Given the description of an element on the screen output the (x, y) to click on. 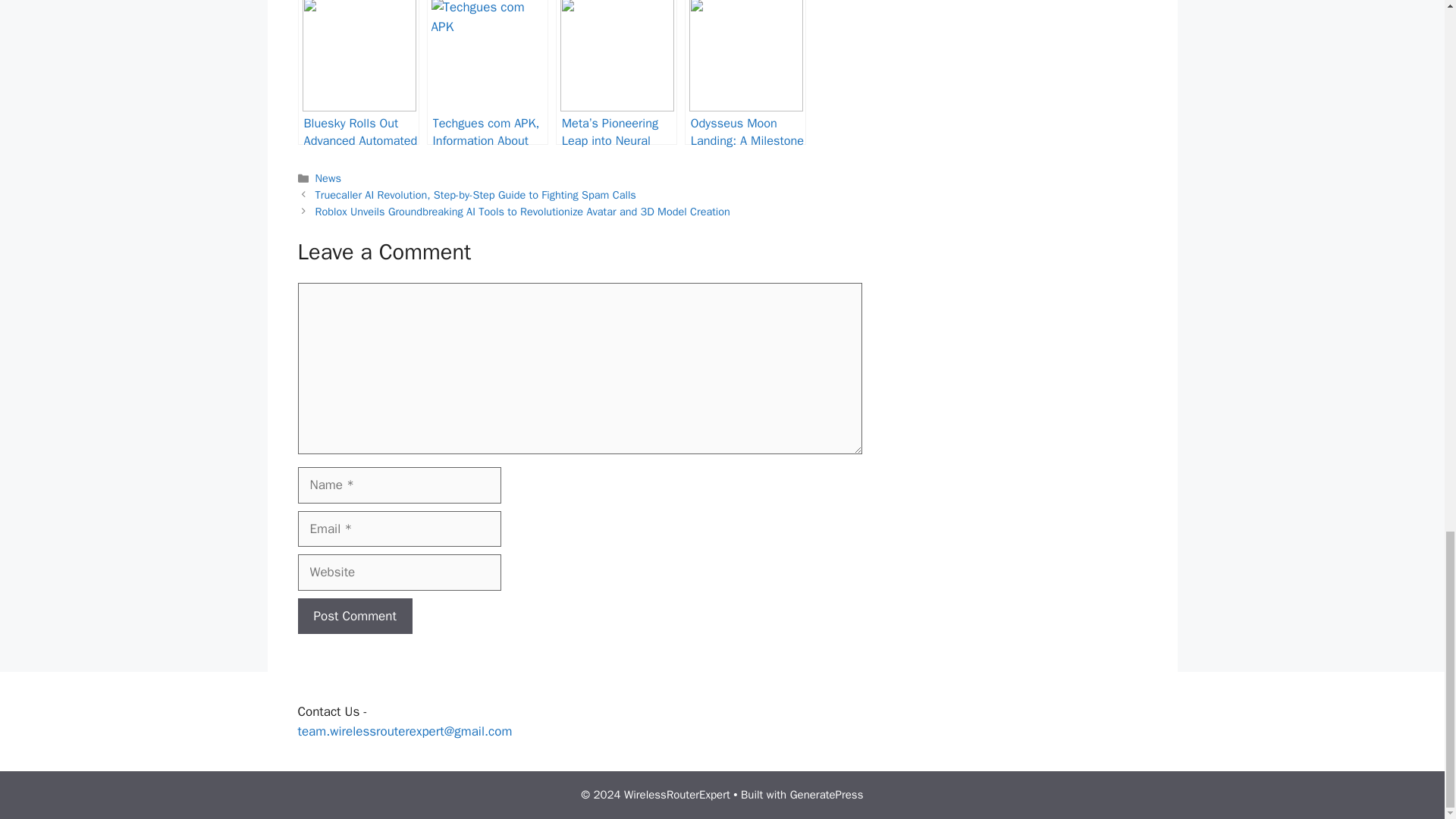
Techgues com APK, Information About The APK (487, 72)
Post Comment (354, 616)
News (327, 178)
Post Comment (354, 616)
Techgues com APK, Information About The APK (487, 72)
